Given the description of an element on the screen output the (x, y) to click on. 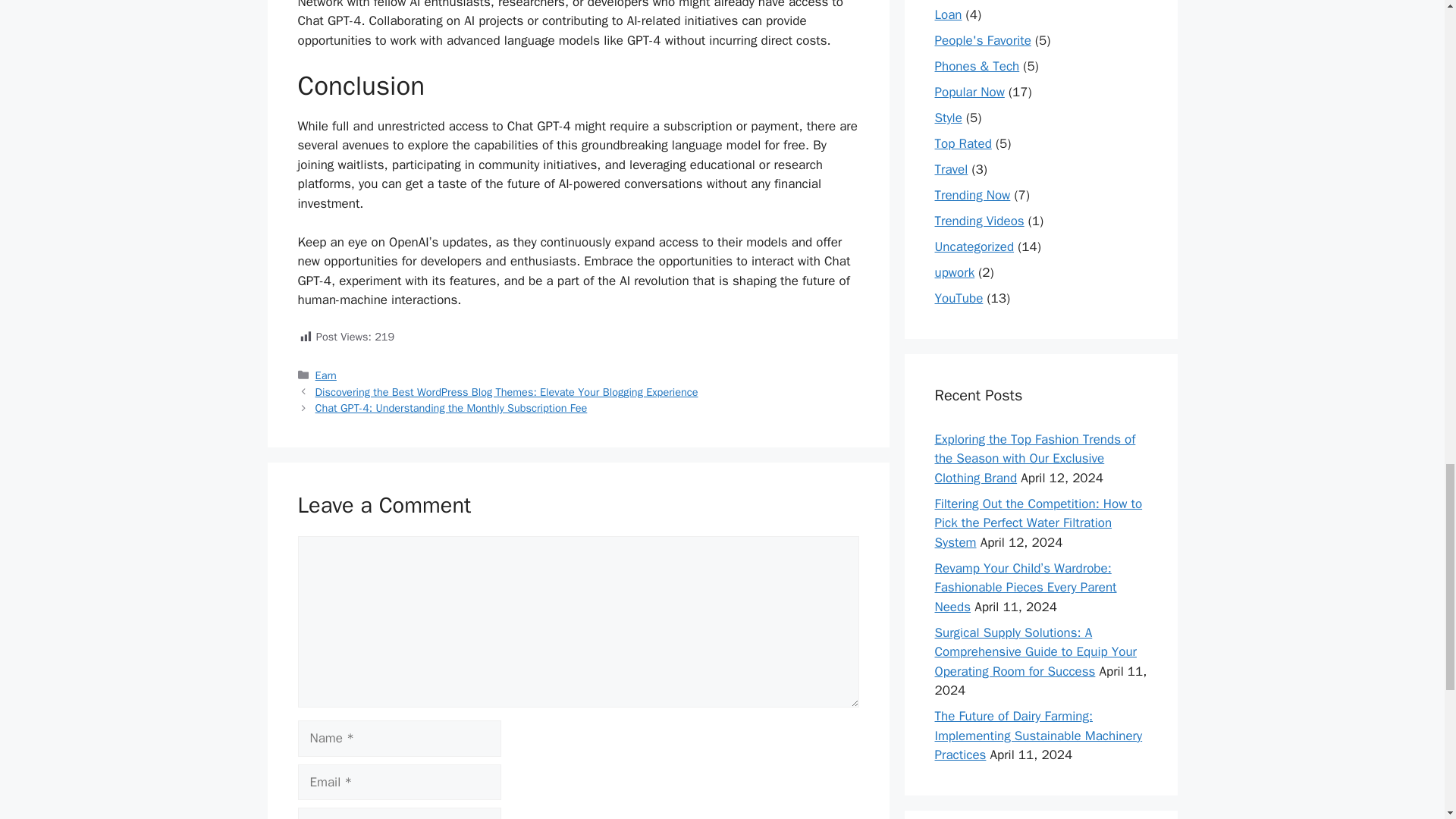
Earn (325, 375)
Chat GPT-4: Understanding the Monthly Subscription Fee (451, 407)
